Given the description of an element on the screen output the (x, y) to click on. 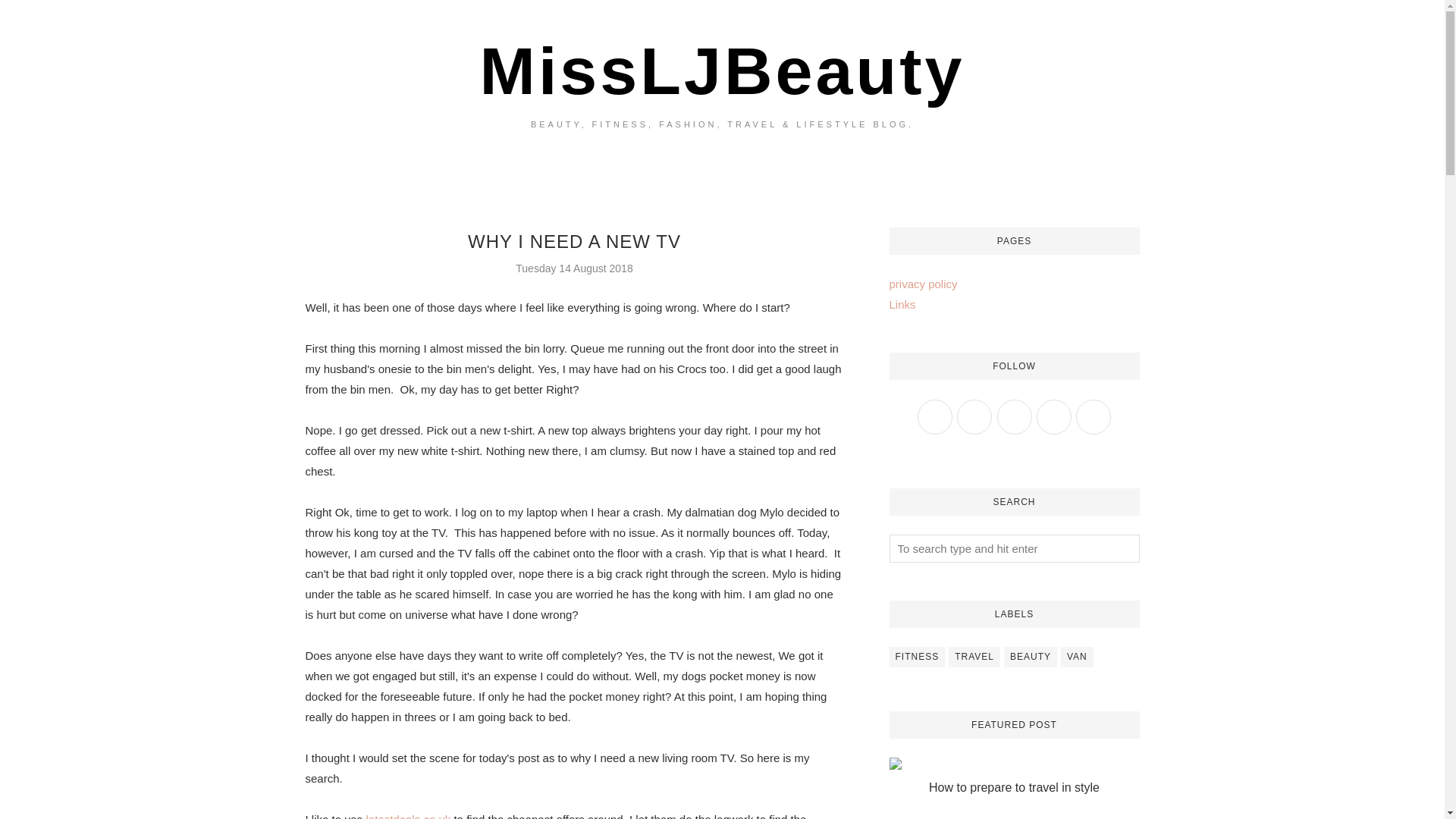
To search type and hit enter (1014, 548)
Links (901, 304)
VAN (1077, 657)
How to prepare to travel in style (1013, 787)
TRAVEL (974, 657)
FITNESS (916, 657)
MissLJBeauty (722, 70)
privacy policy (922, 283)
latestdeals.co.uk (408, 816)
BEAUTY (1030, 657)
